Given the description of an element on the screen output the (x, y) to click on. 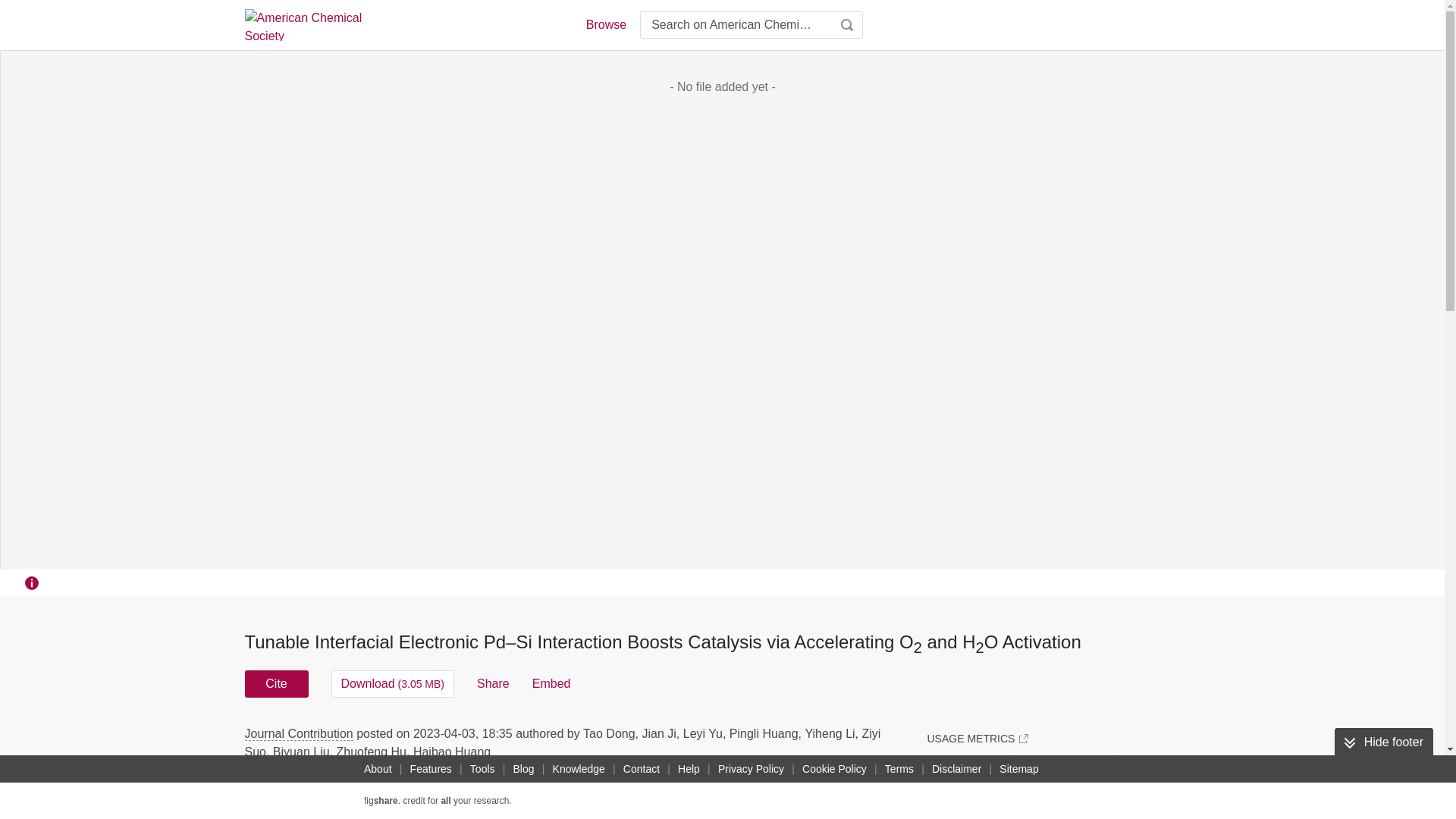
Cite (275, 683)
USAGE METRICS (976, 738)
Embed (551, 683)
Browse (605, 24)
Share (493, 683)
